Given the description of an element on the screen output the (x, y) to click on. 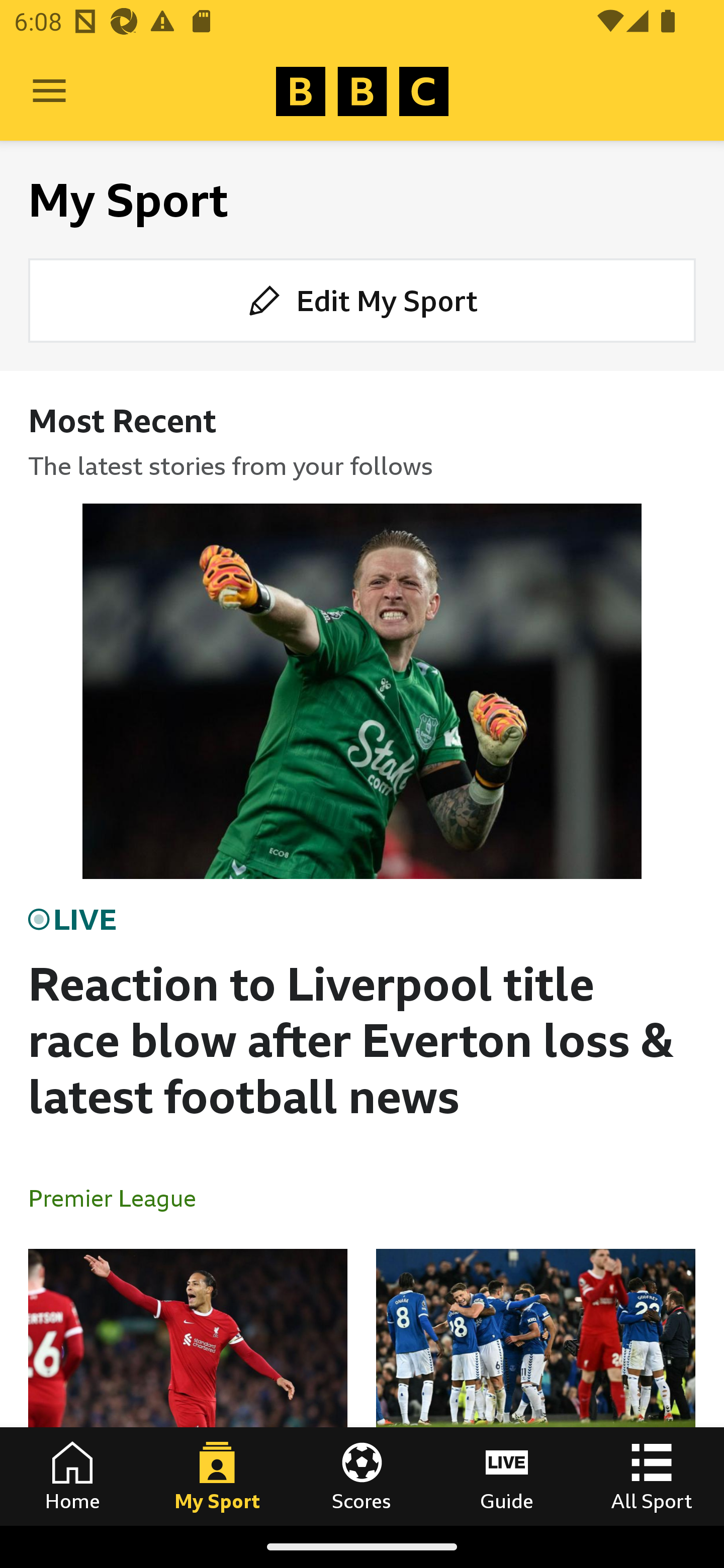
Open Menu (49, 91)
Edit My Sport (361, 300)
Premier League In the section Premier League (119, 1197)
Van Dijk questions desire of team-mates after loss (188, 1386)
Home (72, 1475)
Scores (361, 1475)
Guide (506, 1475)
All Sport (651, 1475)
